Given the description of an element on the screen output the (x, y) to click on. 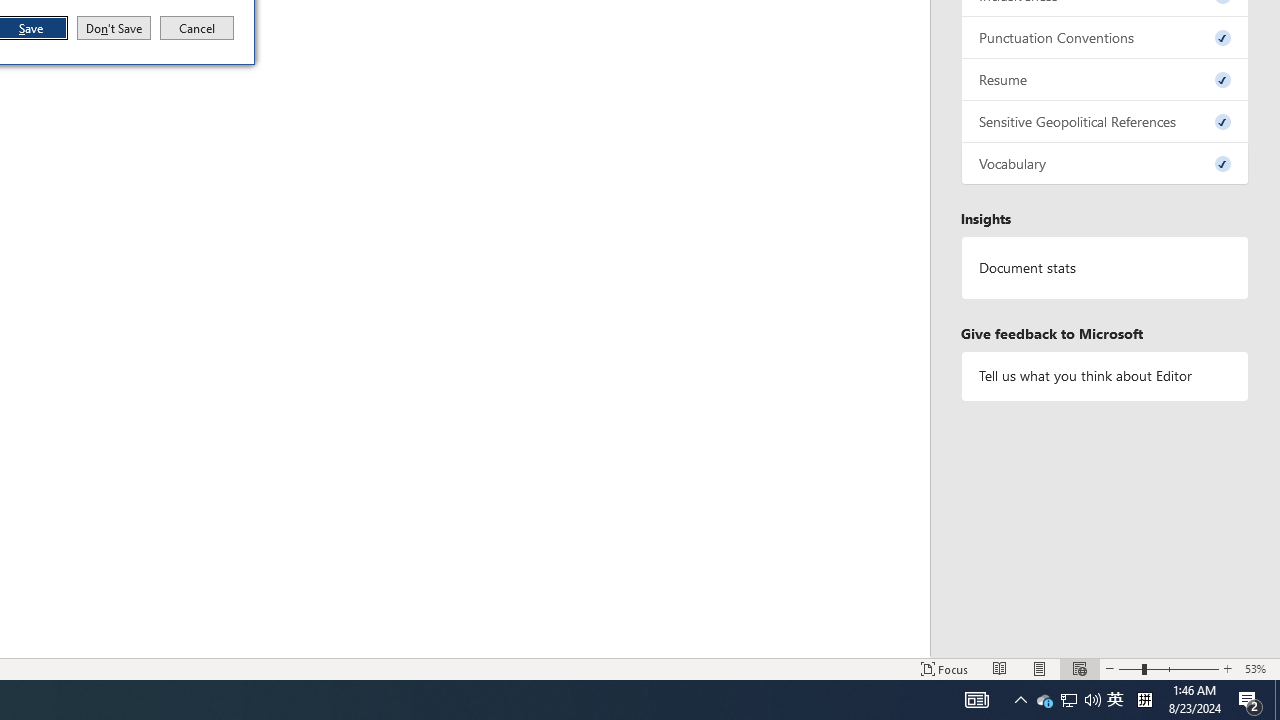
Vocabulary, 0 issues. Press space or enter to review items. (1105, 163)
Document statistics (1105, 267)
Zoom 53% (1258, 668)
